Given the description of an element on the screen output the (x, y) to click on. 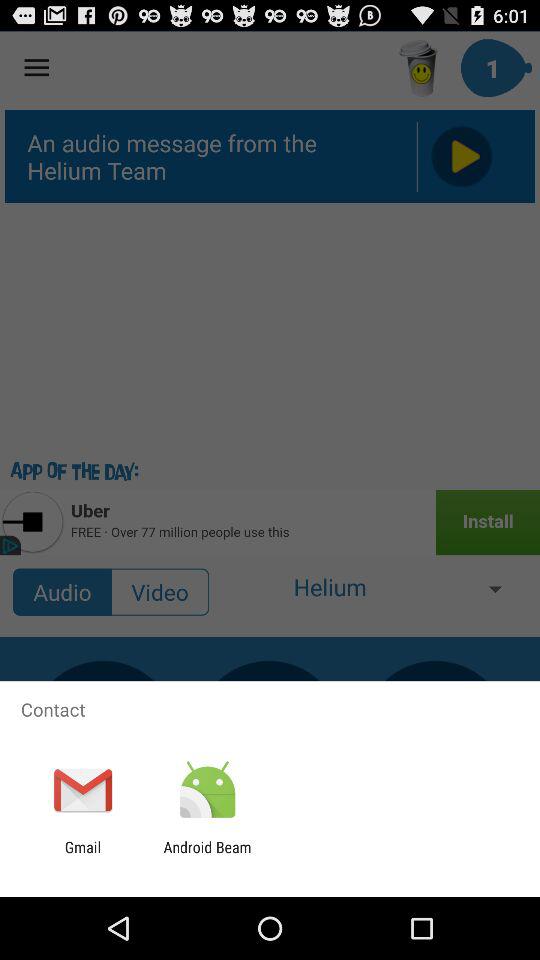
select icon to the right of gmail app (207, 856)
